Given the description of an element on the screen output the (x, y) to click on. 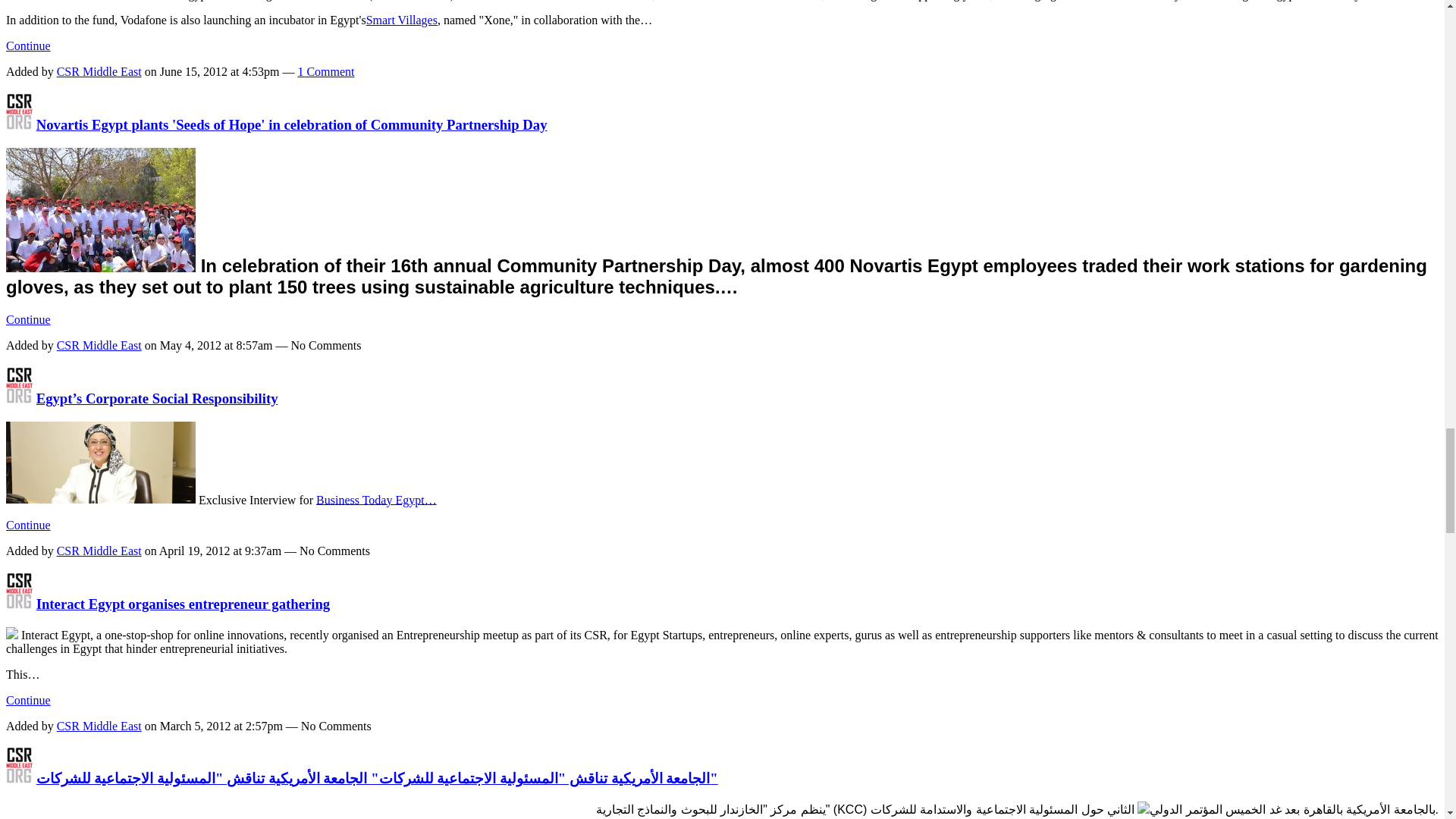
CSR Middle East (18, 398)
CSR Middle East (18, 778)
CSR Middle East (18, 124)
CSR Middle East (18, 603)
